Given the description of an element on the screen output the (x, y) to click on. 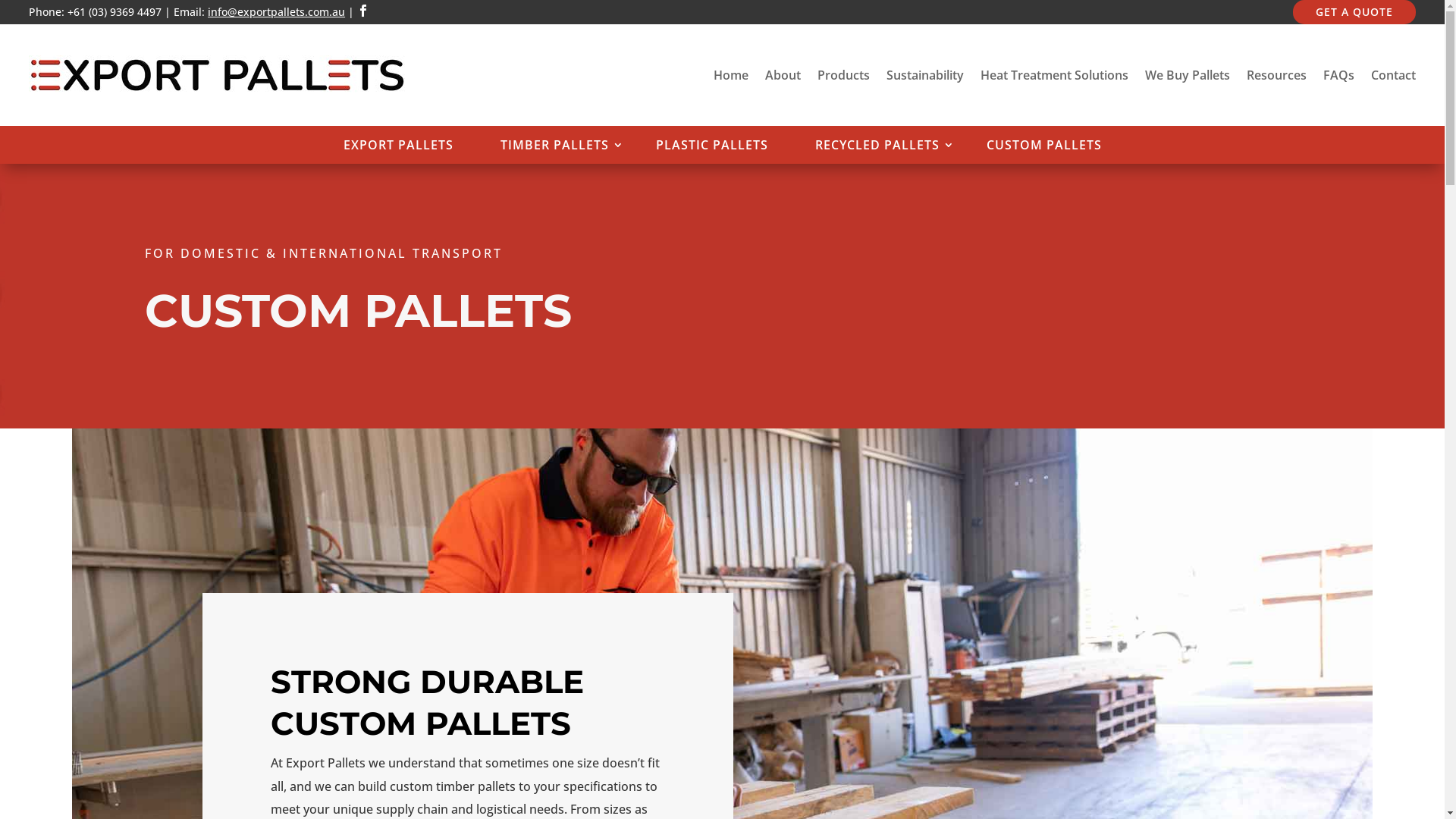
About Element type: text (782, 75)
RECYCLED PALLETS Element type: text (876, 147)
Contact Element type: text (1393, 75)
FAQs Element type: text (1338, 75)
Sustainability Element type: text (924, 75)
CUSTOM PALLETS Element type: text (1043, 147)
We Buy Pallets Element type: text (1187, 75)
TIMBER PALLETS Element type: text (554, 147)
GET A QUOTE Element type: text (1353, 12)
PLASTIC PALLETS Element type: text (711, 147)
Products Element type: text (843, 75)
Home Element type: text (730, 75)
+61 (03) 9369 4497 Element type: text (115, 11)
Resources Element type: text (1276, 75)
EXPORT PALLETS Element type: text (397, 147)
info@exportpallets.com.au Element type: text (276, 11)
Heat Treatment Solutions Element type: text (1054, 75)
